Given the description of an element on the screen output the (x, y) to click on. 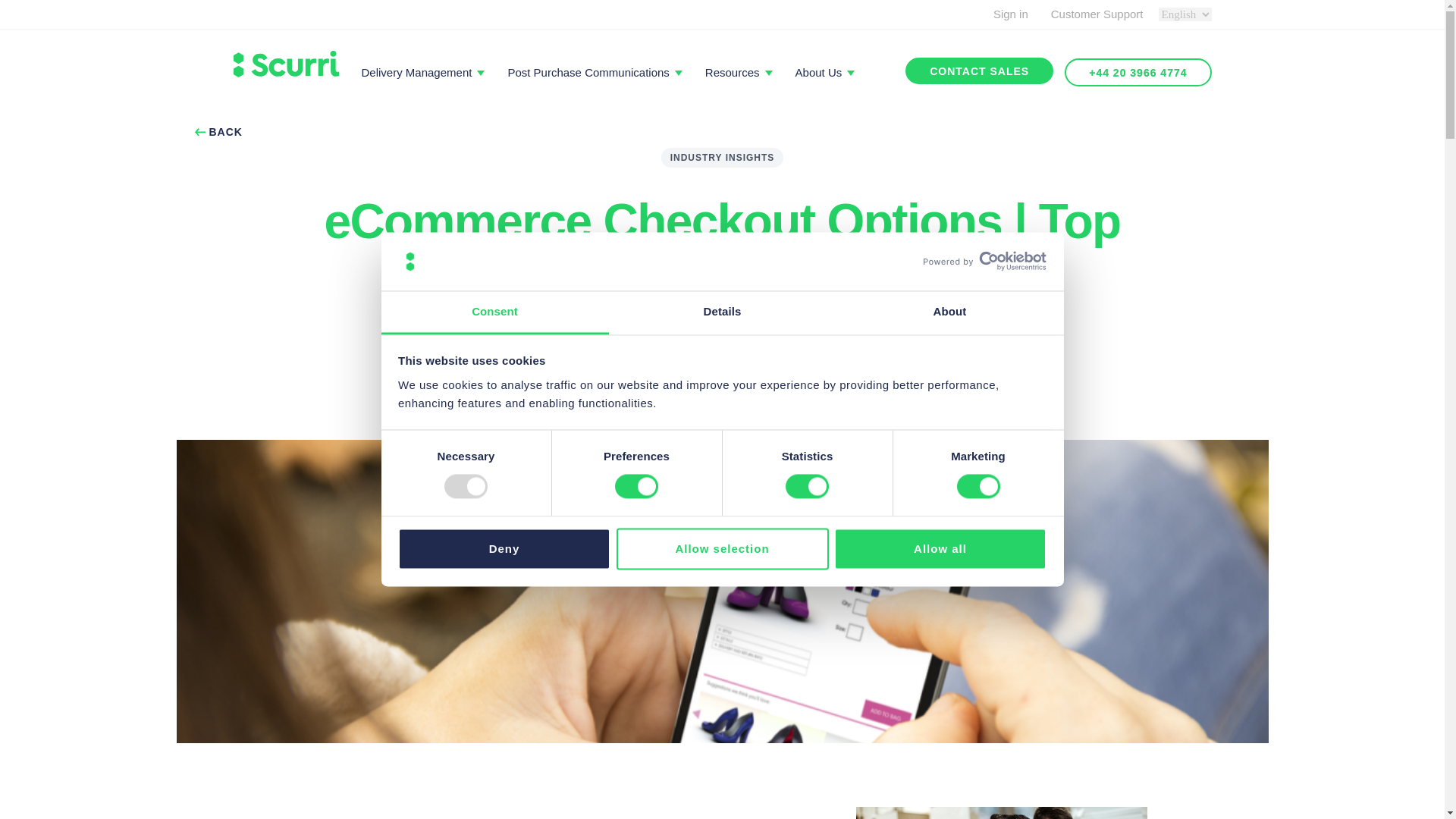
Details (721, 312)
About (948, 312)
Consent (494, 312)
